Given the description of an element on the screen output the (x, y) to click on. 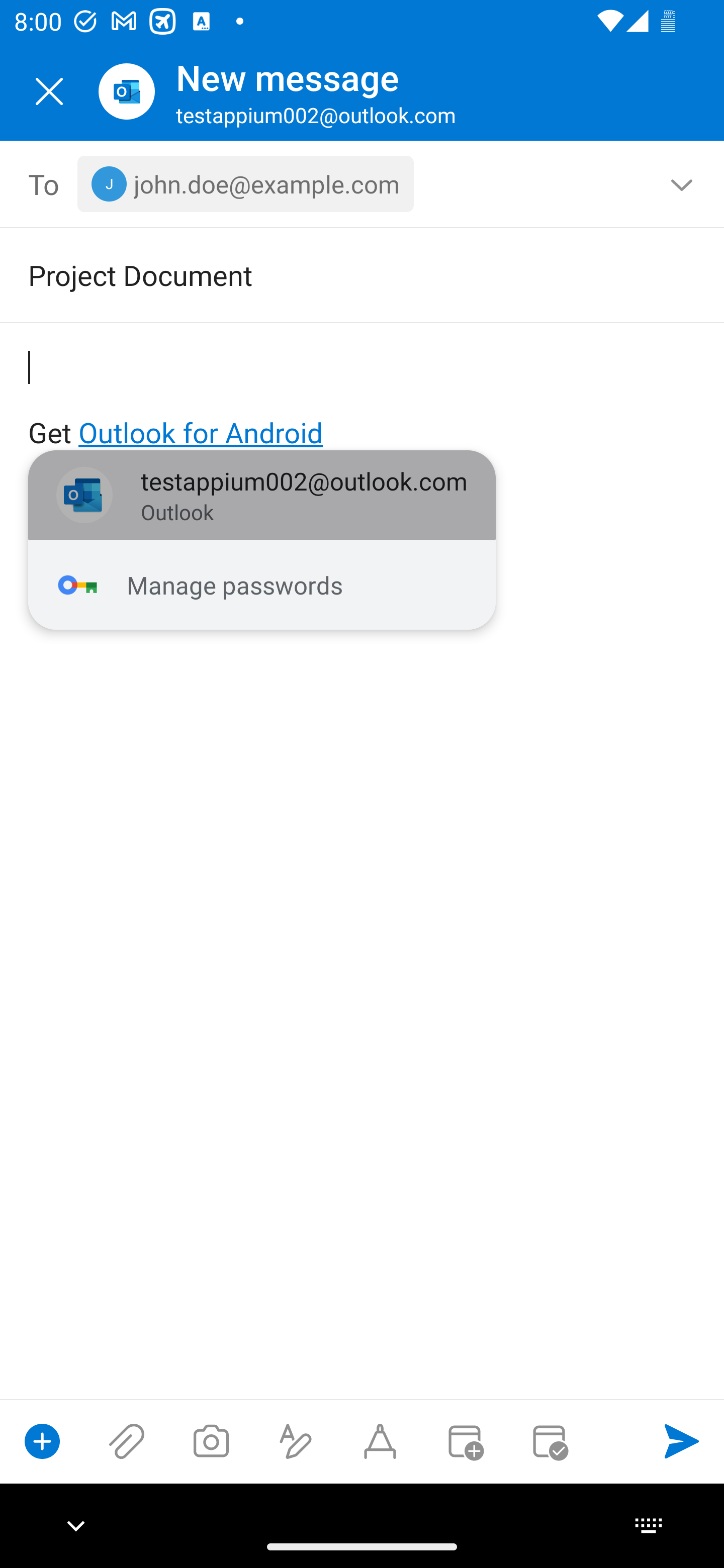
Outlook testappium002@outlook.com Outlook (261, 495)
Google Password Manager Manage passwords (261, 585)
